Given the description of an element on the screen output the (x, y) to click on. 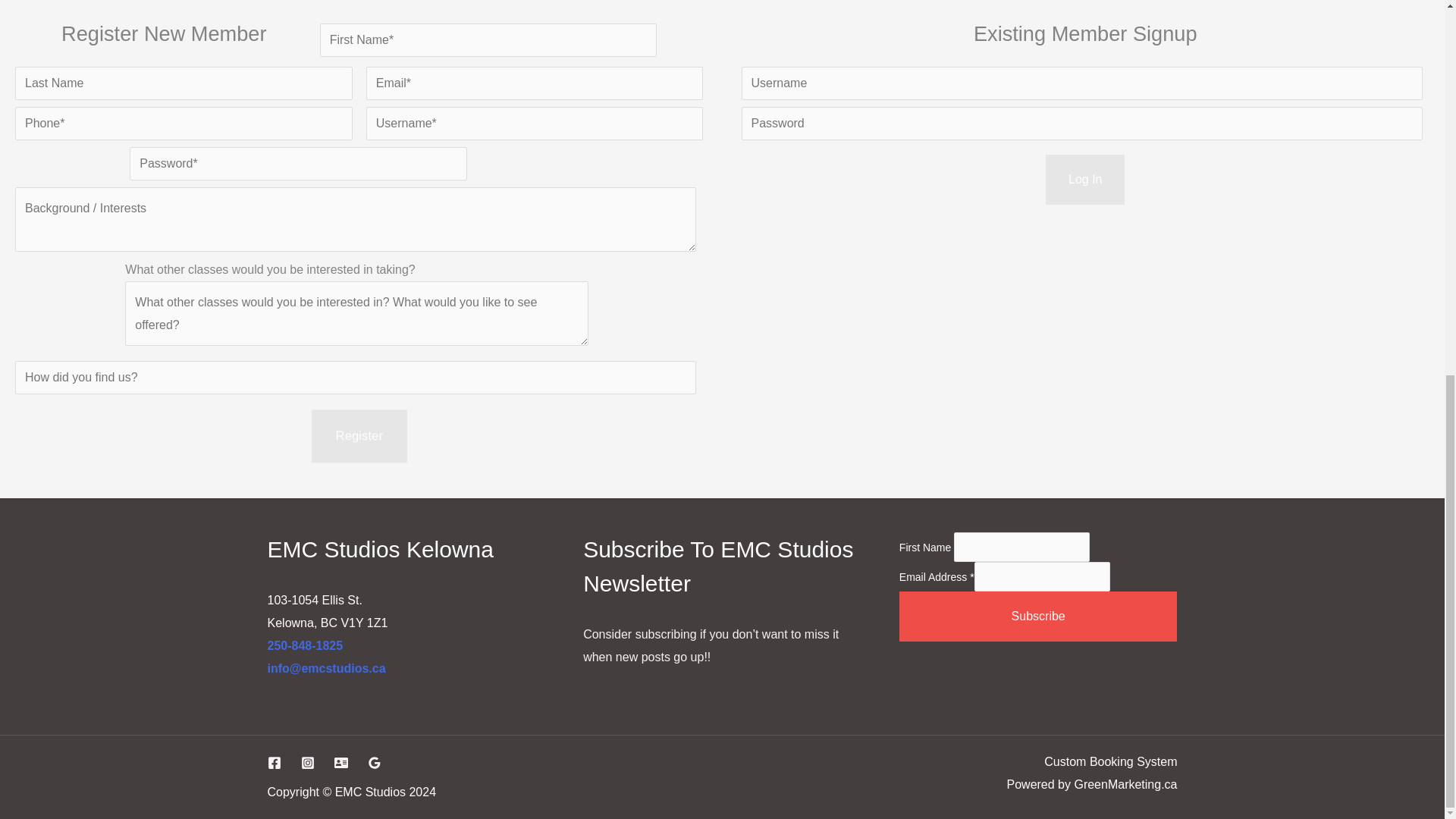
Register (358, 435)
Log In (1084, 179)
Subscribe (1038, 616)
